Given the description of an element on the screen output the (x, y) to click on. 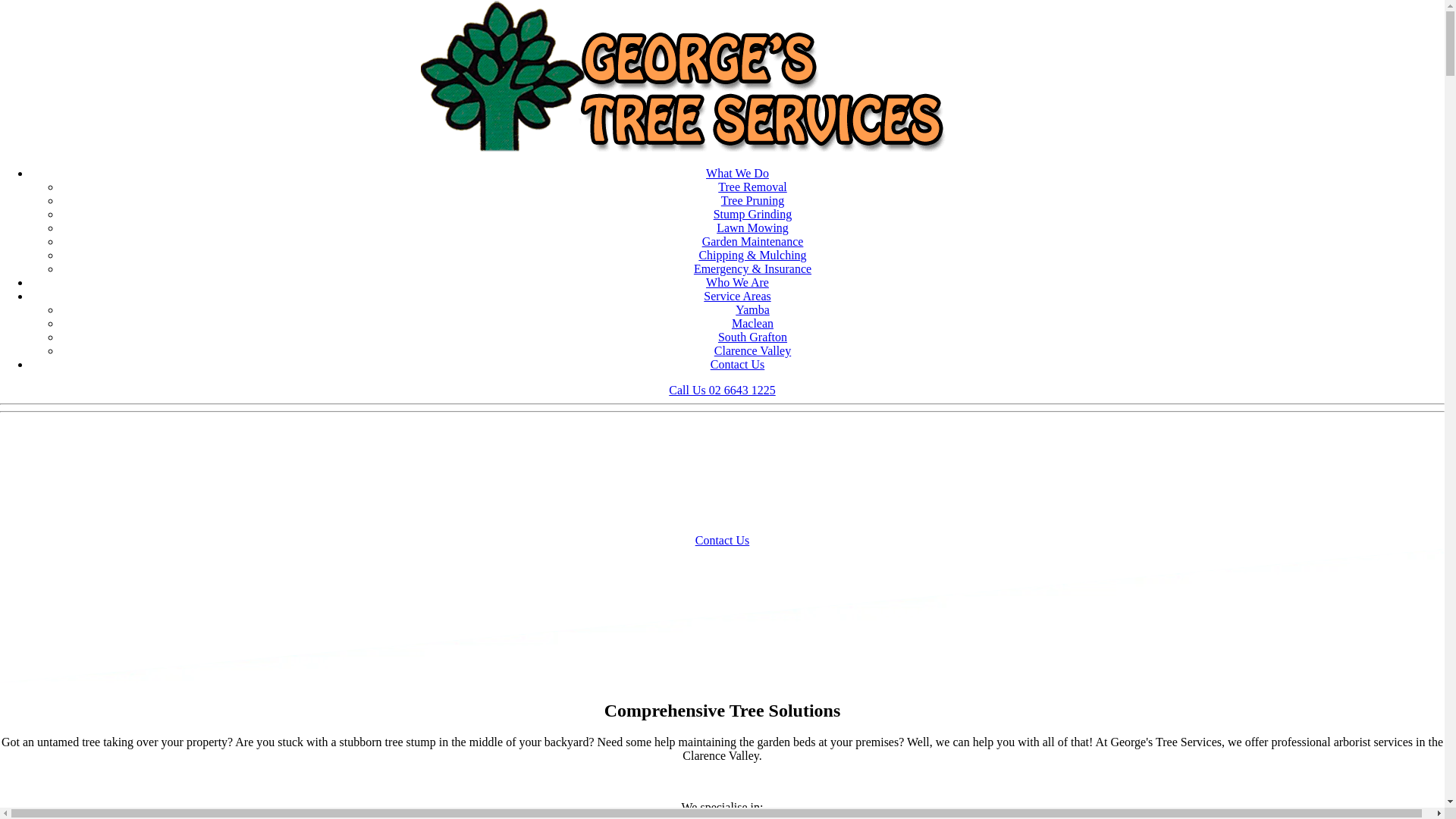
Who We Are Element type: text (737, 282)
Chipping & Mulching Element type: text (752, 254)
Emergency & Insurance Element type: text (752, 268)
Clarence Valley Element type: text (752, 350)
Contact Us Element type: text (737, 363)
Lawn Mowing Element type: text (752, 227)
Maclean Element type: text (752, 322)
Stump Grinding Element type: text (752, 213)
South Grafton Element type: text (752, 336)
Tree Removal Element type: text (752, 186)
What We Do Element type: text (737, 172)
Yamba Element type: text (752, 309)
Contact Us Element type: text (722, 539)
Tree Pruning Element type: text (752, 200)
Service Areas Element type: text (736, 295)
Call Us 02 6643 1225 Element type: text (721, 389)
Garden Maintenance Element type: text (752, 241)
